Given the description of an element on the screen output the (x, y) to click on. 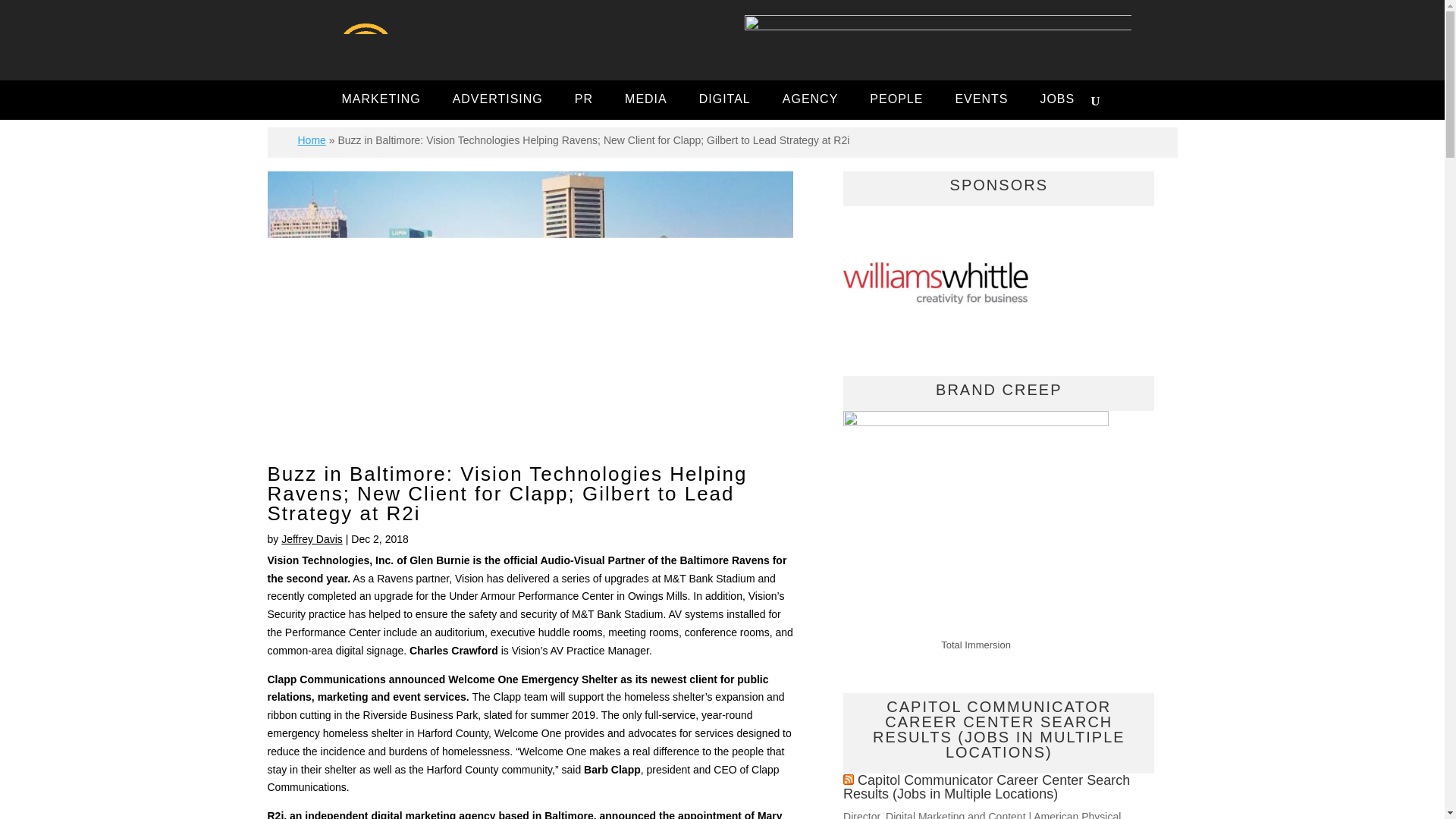
Jeffrey Davis (311, 539)
ADVERTISING (497, 100)
Home (310, 140)
AGENCY (809, 100)
MEDIA (646, 100)
PR (583, 100)
PEOPLE (895, 100)
DIGITAL (724, 100)
Posts by Jeffrey Davis (311, 539)
EVENTS (980, 100)
Williams Whittle (939, 286)
JOBS (1056, 100)
MARKETING (381, 100)
